Given the description of an element on the screen output the (x, y) to click on. 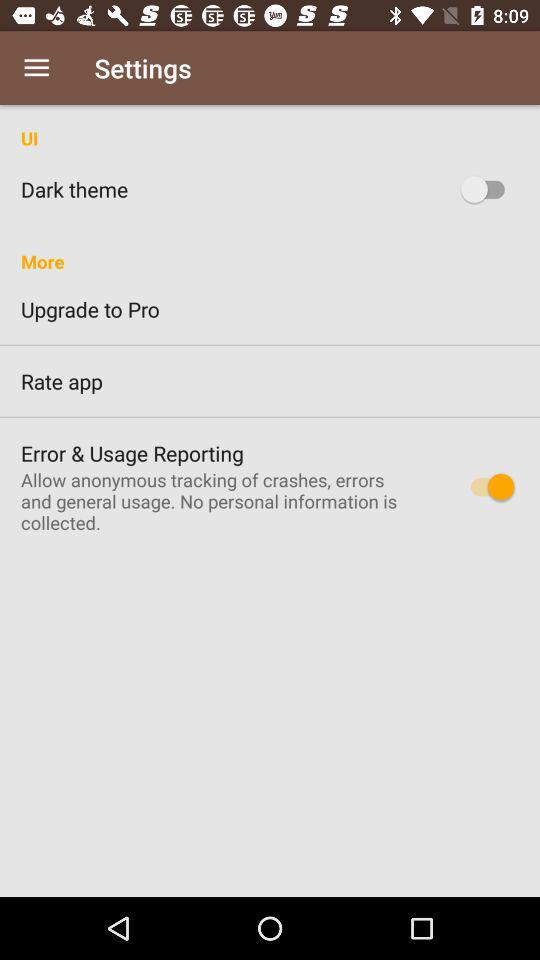
turn off the upgrade to pro (270, 309)
